Given the description of an element on the screen output the (x, y) to click on. 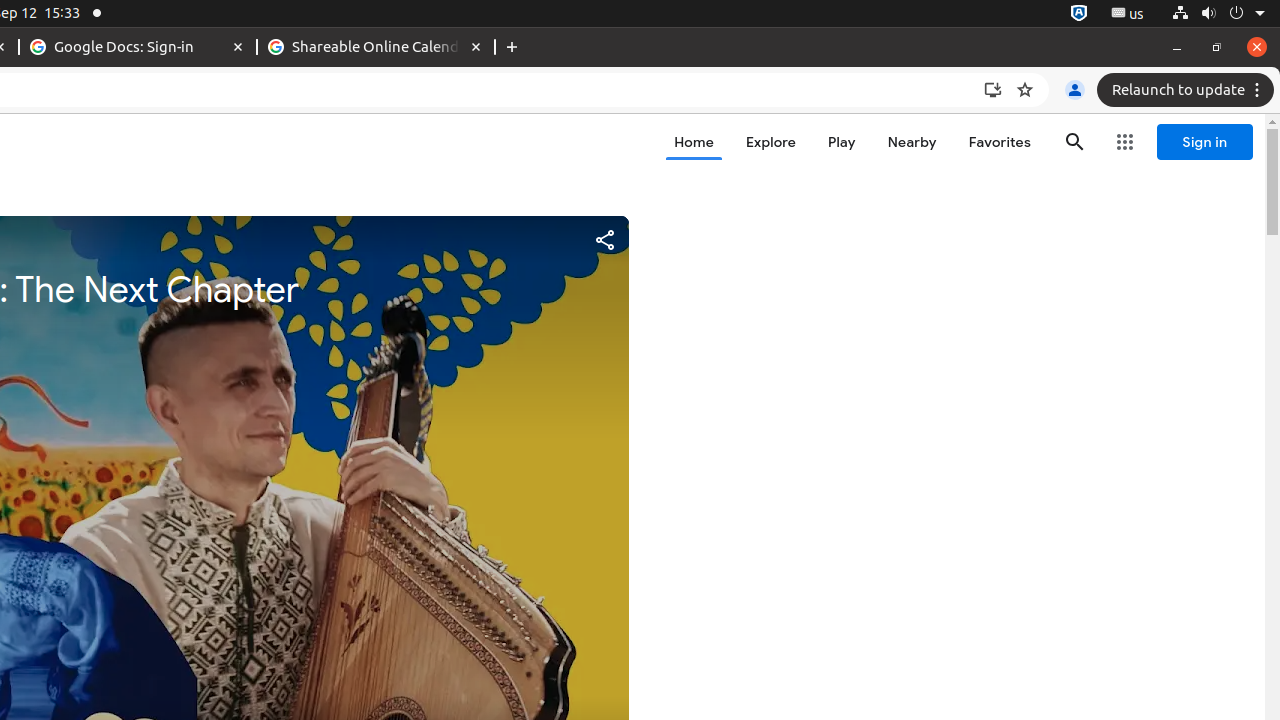
Favorites Element type: link (999, 142)
Play Element type: link (842, 142)
You Element type: push-button (1075, 90)
Shareable Online Calendar and Scheduling - Google Calendar - Memory usage - 88.5 MB Element type: page-tab (376, 47)
:1.72/StatusNotifierItem Element type: menu (1079, 13)
